Given the description of an element on the screen output the (x, y) to click on. 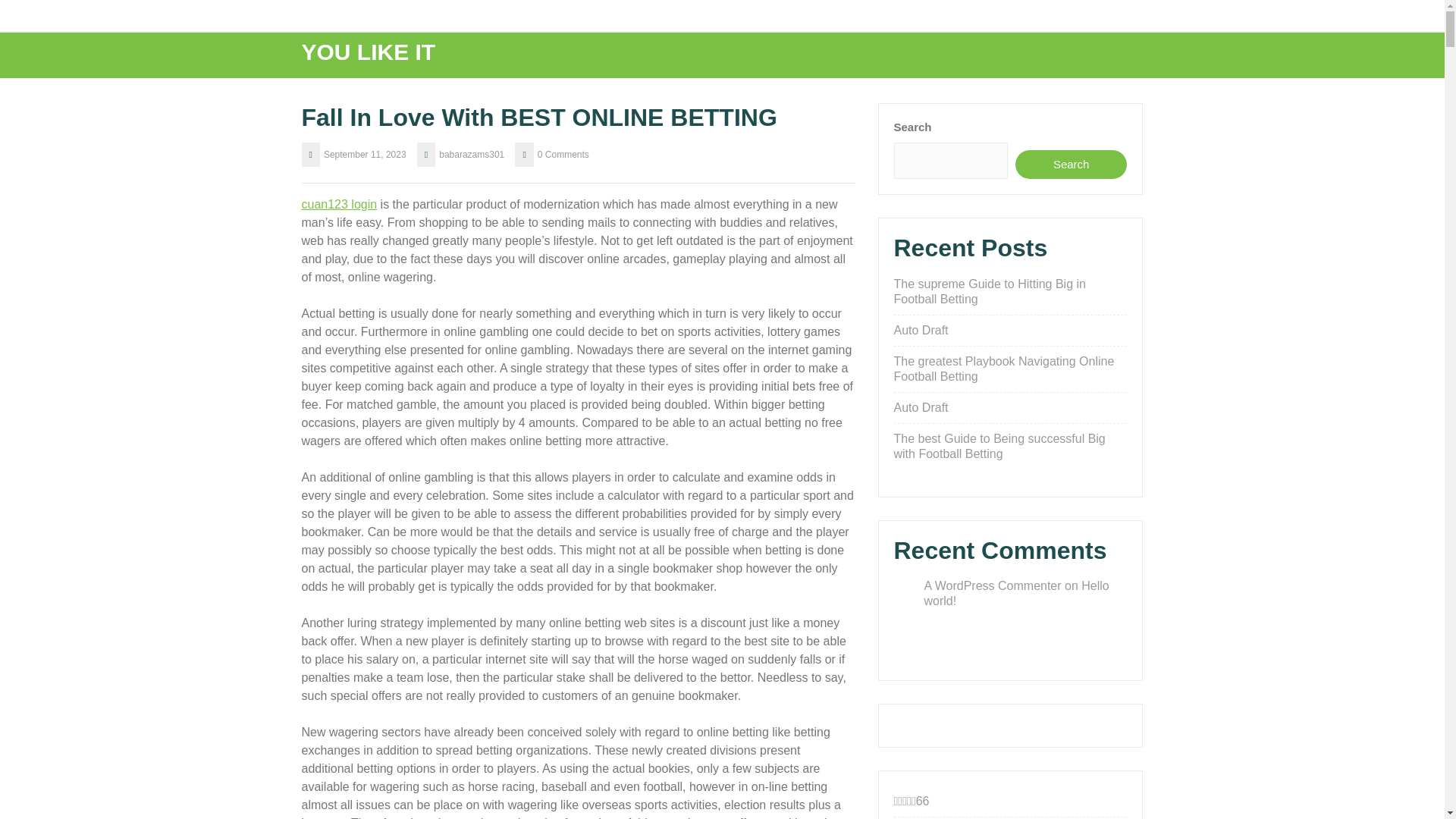
cuan123 login (339, 204)
The supreme Guide to Hitting Big in Football Betting (988, 291)
The greatest Playbook Navigating Online Football Betting (1003, 368)
Search (1070, 164)
Hello world! (1015, 593)
YOU LIKE IT (368, 51)
Auto Draft (920, 329)
Auto Draft (920, 407)
The best Guide to Being successful Big with Football Betting (999, 446)
A WordPress Commenter (992, 585)
